Given the description of an element on the screen output the (x, y) to click on. 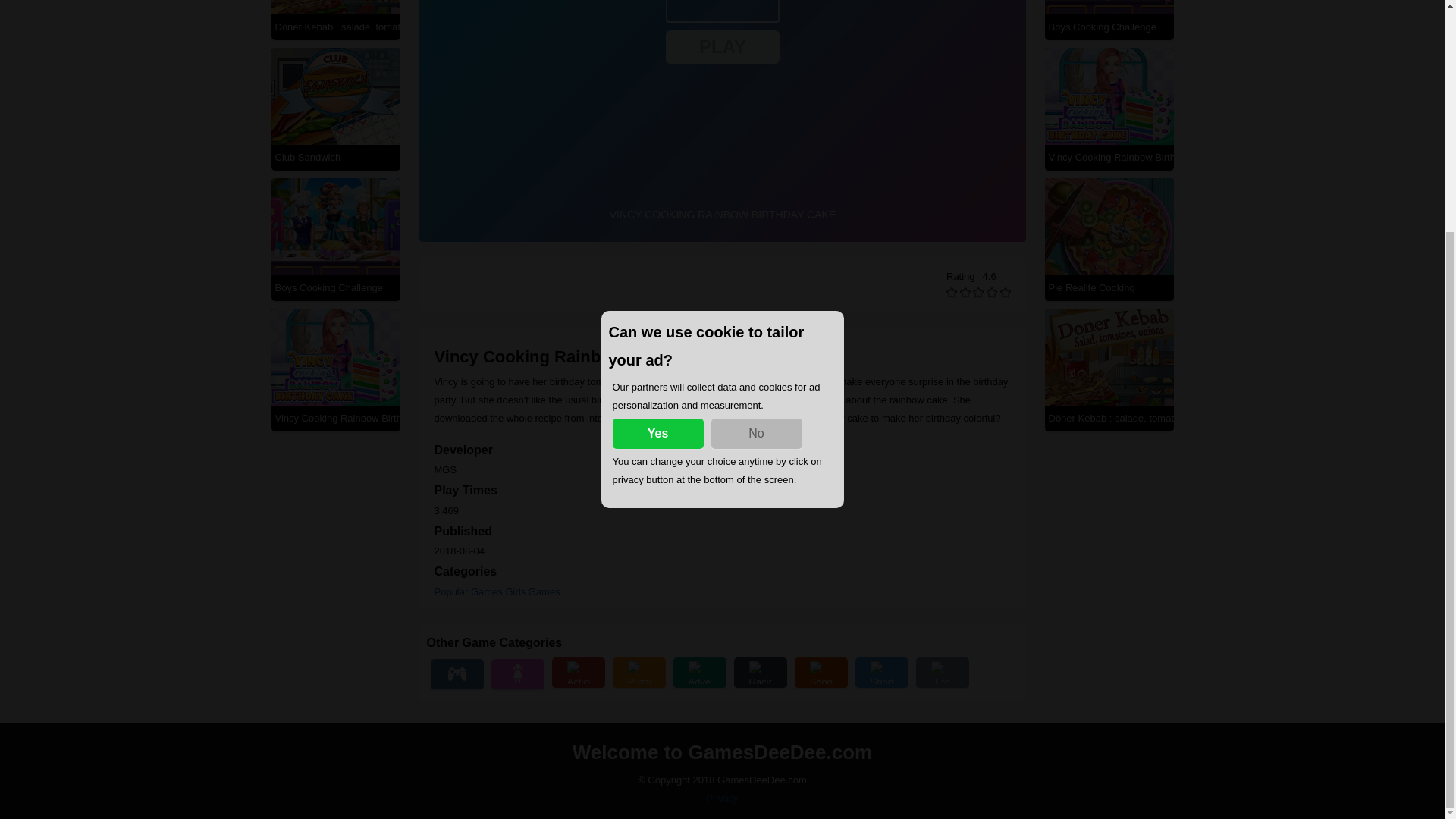
Popular Games (467, 591)
Club Sandwich (334, 156)
Vincy Cooking Rainbow Birthday Cake (334, 418)
Boys Cooking Challenge (334, 287)
Vincy Cooking Rainbow Birthday Cake (1108, 156)
Boys Cooking Challenge (1108, 26)
Girls Games (532, 591)
